Given the description of an element on the screen output the (x, y) to click on. 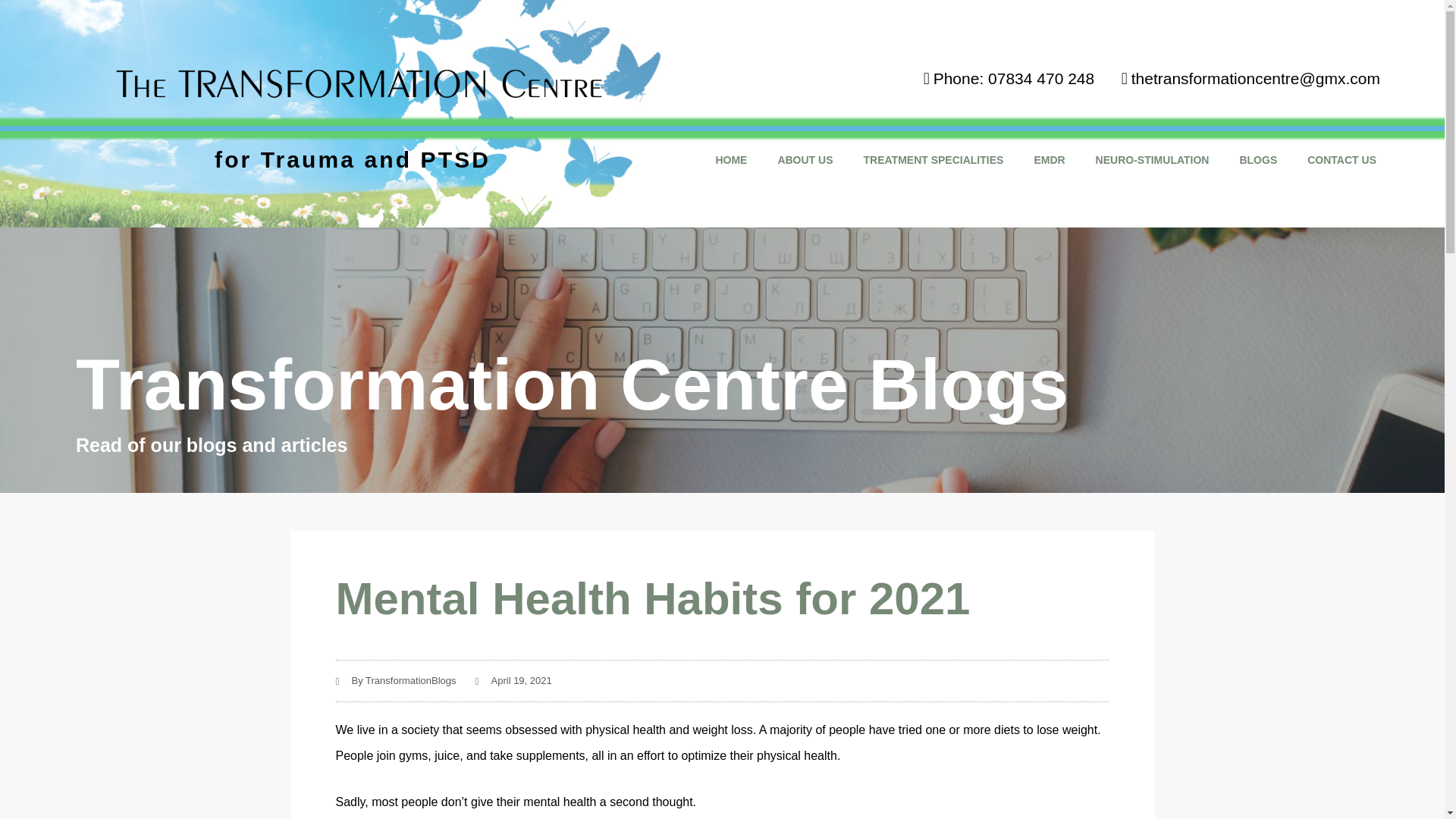
CONTACT US (1341, 159)
April 19, 2021 (513, 680)
BLOGS (1258, 159)
By TransformationBlogs (394, 680)
ABOUT US (804, 159)
EMDR (1048, 159)
TREATMENT SPECIALITIES (933, 159)
HOME (730, 159)
NEURO-STIMULATION (1152, 159)
